Given the description of an element on the screen output the (x, y) to click on. 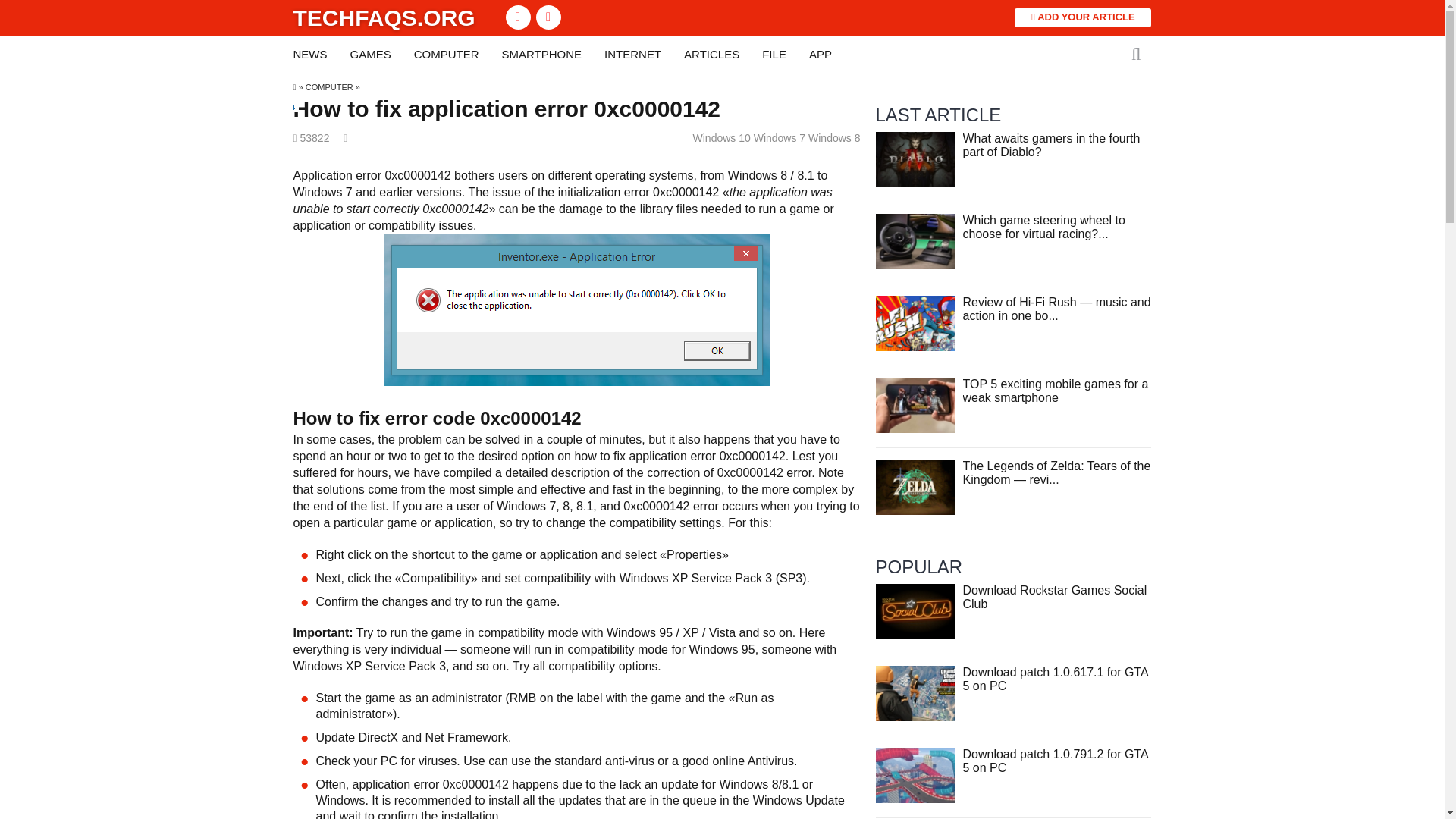
Download Rockstar Games Social Club (1054, 596)
COMPUTER (446, 54)
ARTICLES (711, 54)
Which game steering wheel to choose for virtual racing? (915, 240)
Download patch 1.0.617.1 for GTA 5 on PC (1055, 678)
Download patch 1.0.791.2 for GTA 5 on PC (1055, 760)
Download patch 1.0.791.2 for GTA 5 on PC (915, 774)
TOP 5 exciting mobile games for a weak smartphone (915, 404)
Home Page (383, 17)
TECHFAQS.ORG (383, 17)
